Given the description of an element on the screen output the (x, y) to click on. 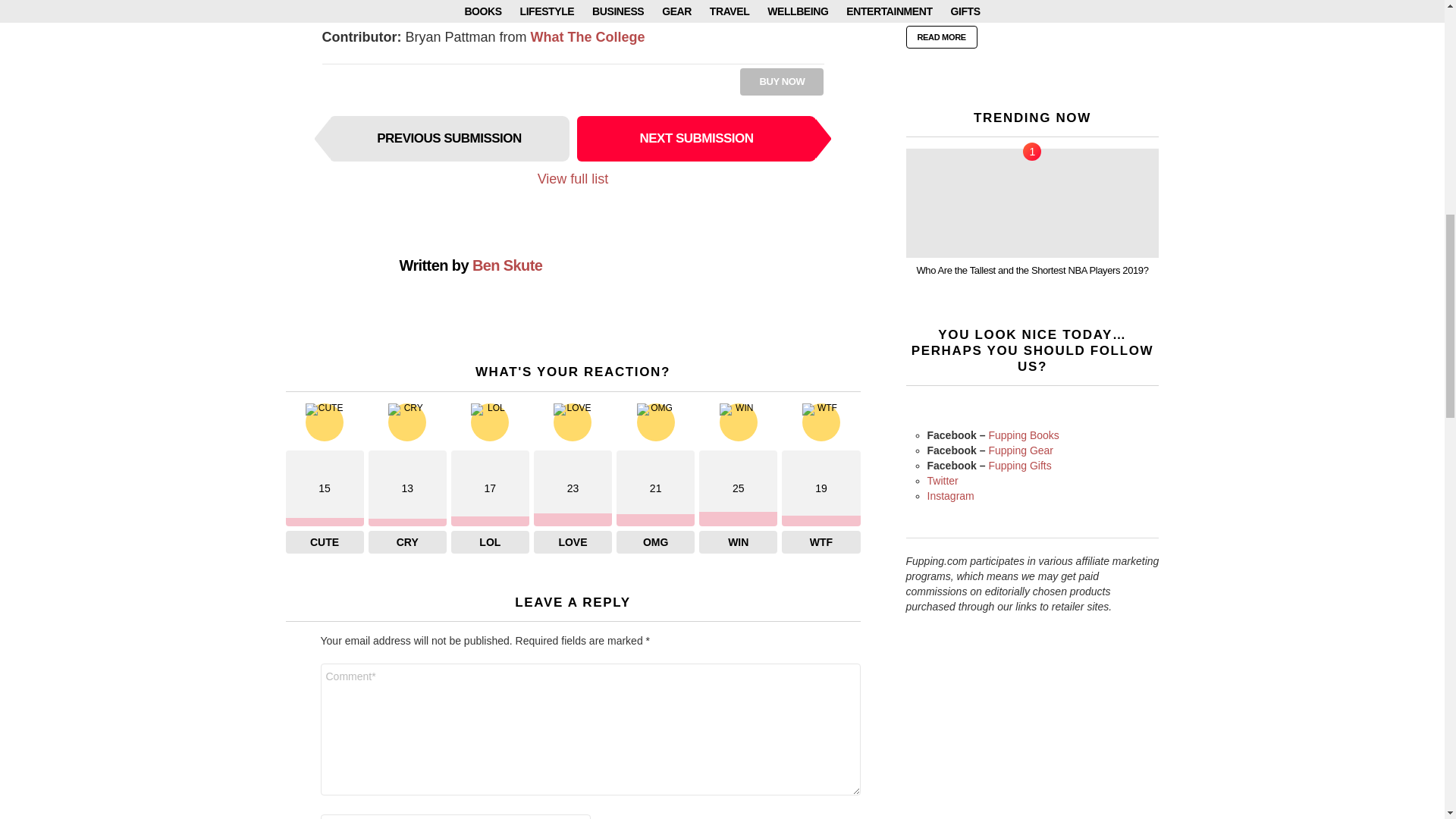
What The College (588, 37)
PREVIOUS SUBMISSION (449, 138)
View full list (572, 178)
Who Are the Tallest and the Shortest NBA Players 2019? (1031, 202)
BUY NOW (781, 81)
NEXT SUBMISSION (695, 138)
